Given the description of an element on the screen output the (x, y) to click on. 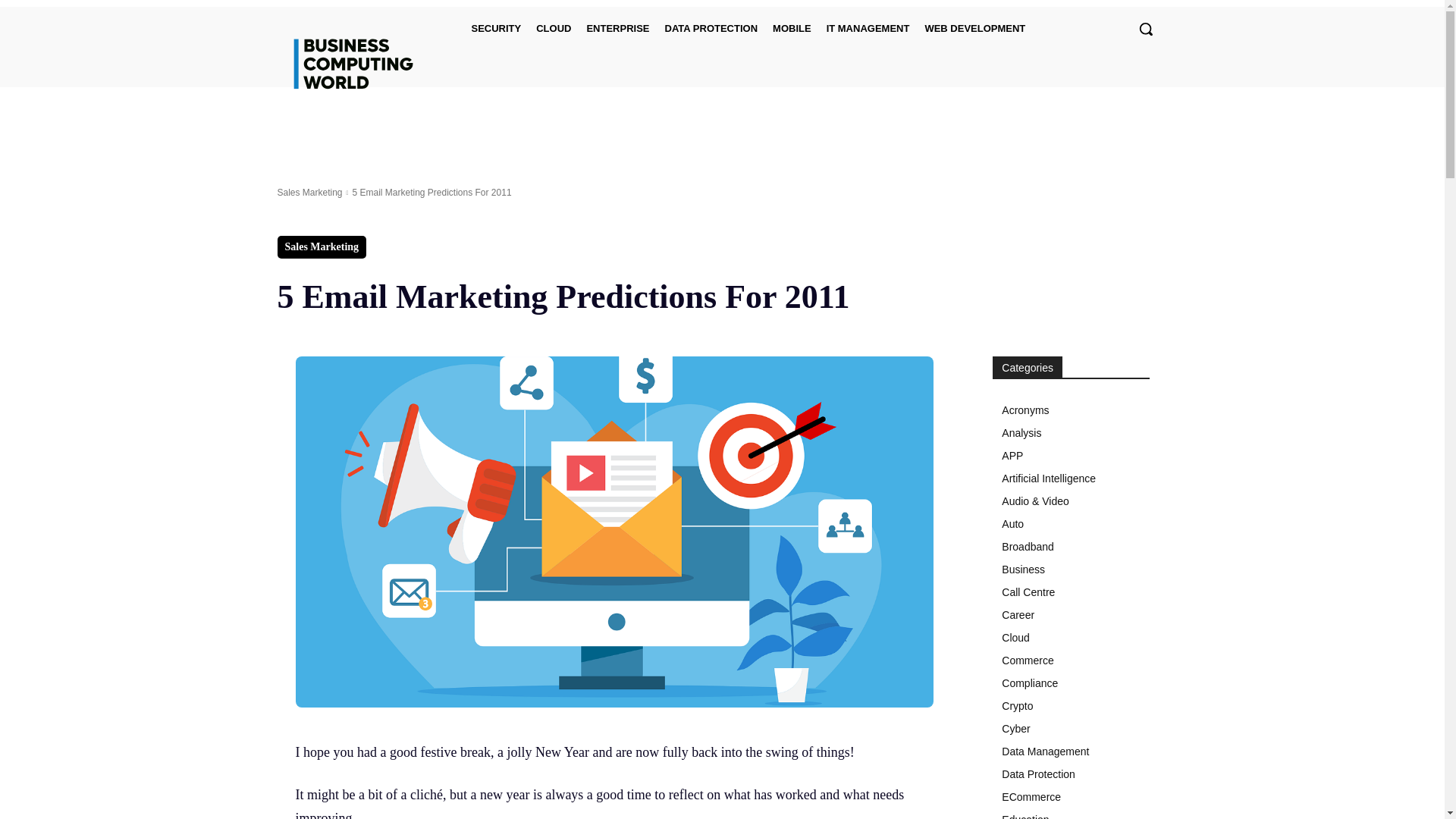
Auto (1070, 523)
Business Computing World (352, 64)
MOBILE (791, 28)
Call Centre (1070, 591)
Acronyms (1070, 409)
APP (1070, 455)
WEB DEVELOPMENT (974, 28)
CLOUD (552, 28)
Business (1070, 568)
Artificial Intelligence (1070, 477)
Broadband (1070, 546)
Analysis (1070, 432)
DATA PROTECTION (711, 28)
IT MANAGEMENT (868, 28)
ENTERPRISE (617, 28)
